Given the description of an element on the screen output the (x, y) to click on. 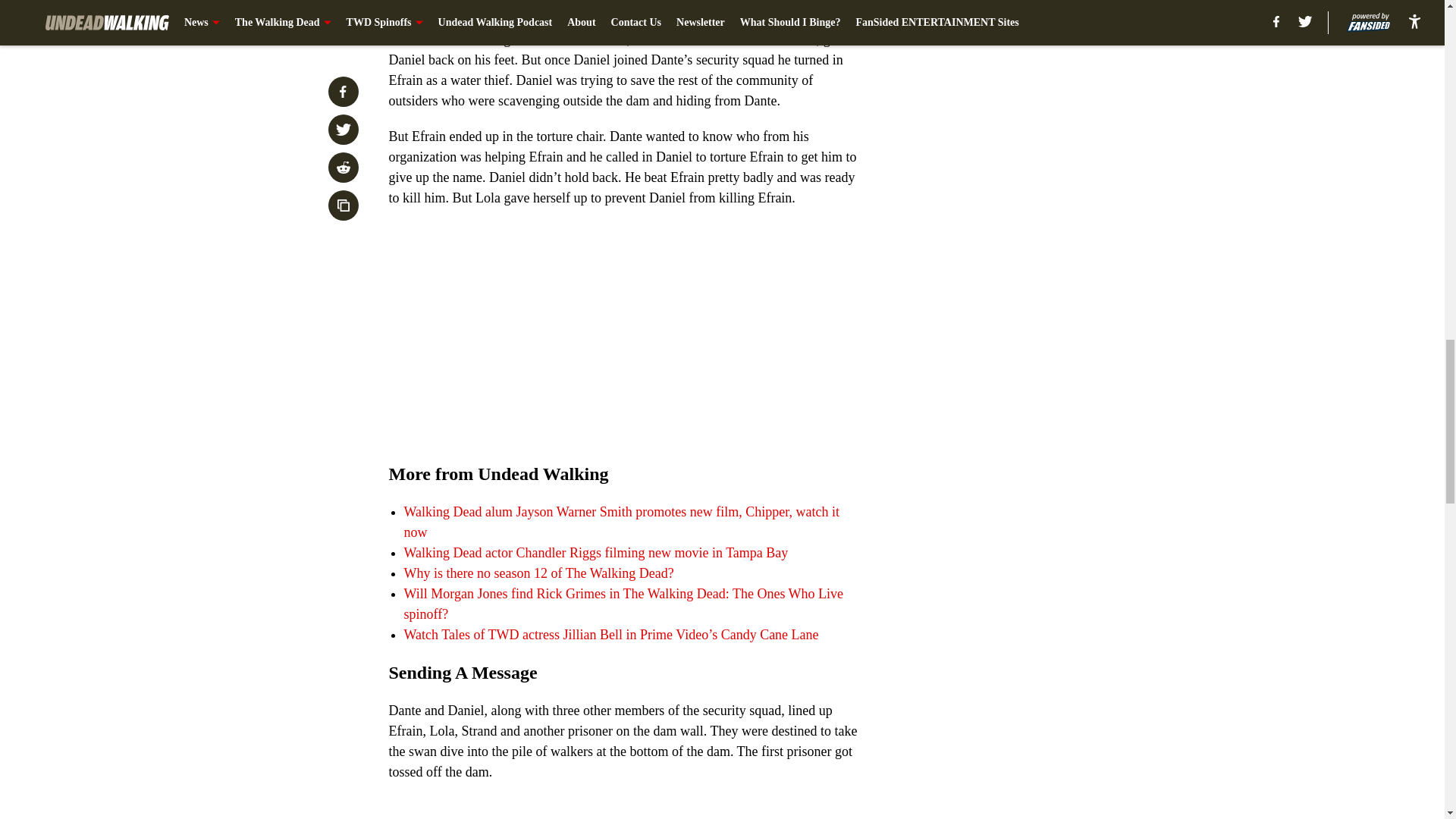
Why is there no season 12 of The Walking Dead? (537, 572)
